Given the description of an element on the screen output the (x, y) to click on. 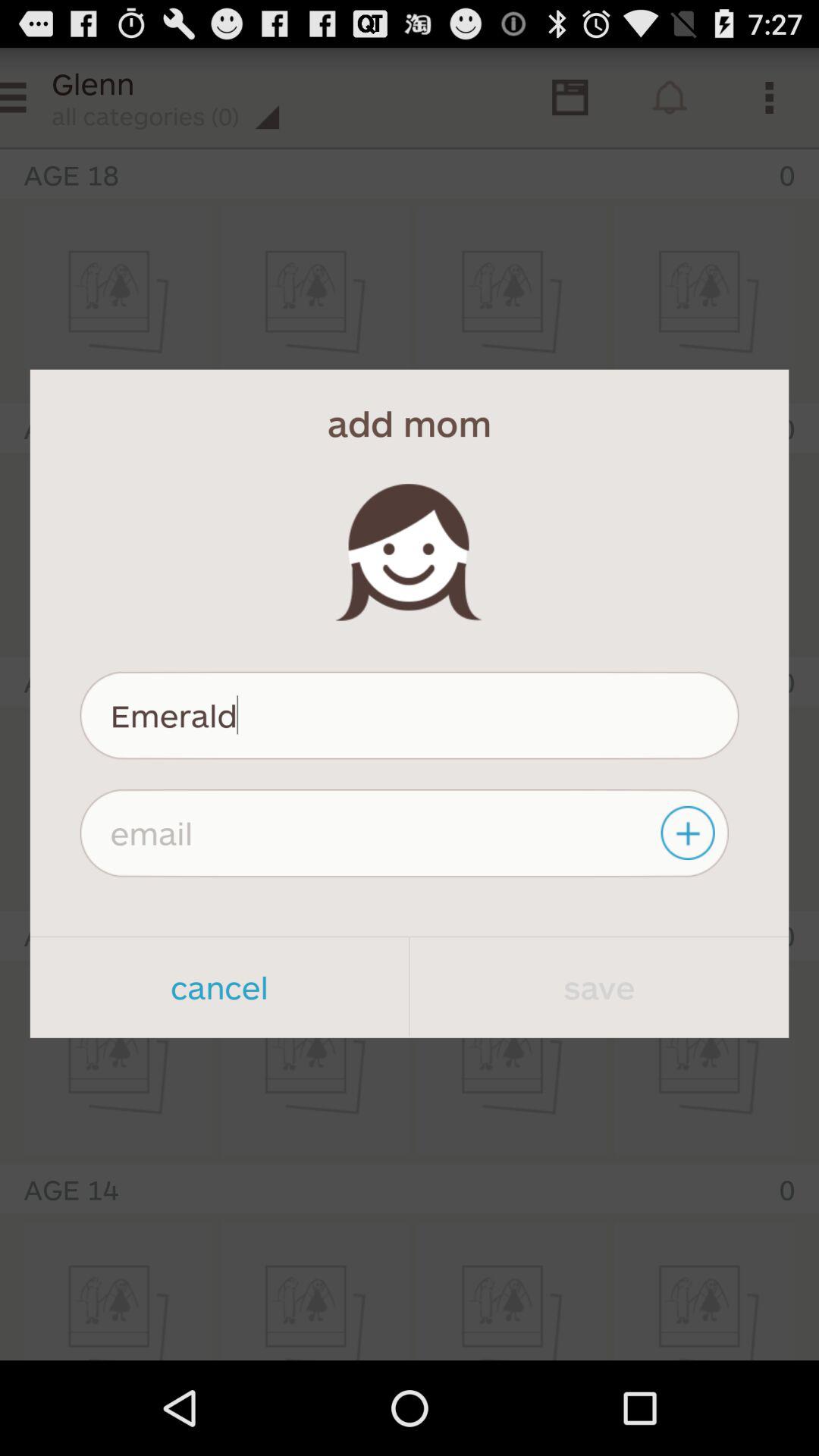
add email address (689, 832)
